Given the description of an element on the screen output the (x, y) to click on. 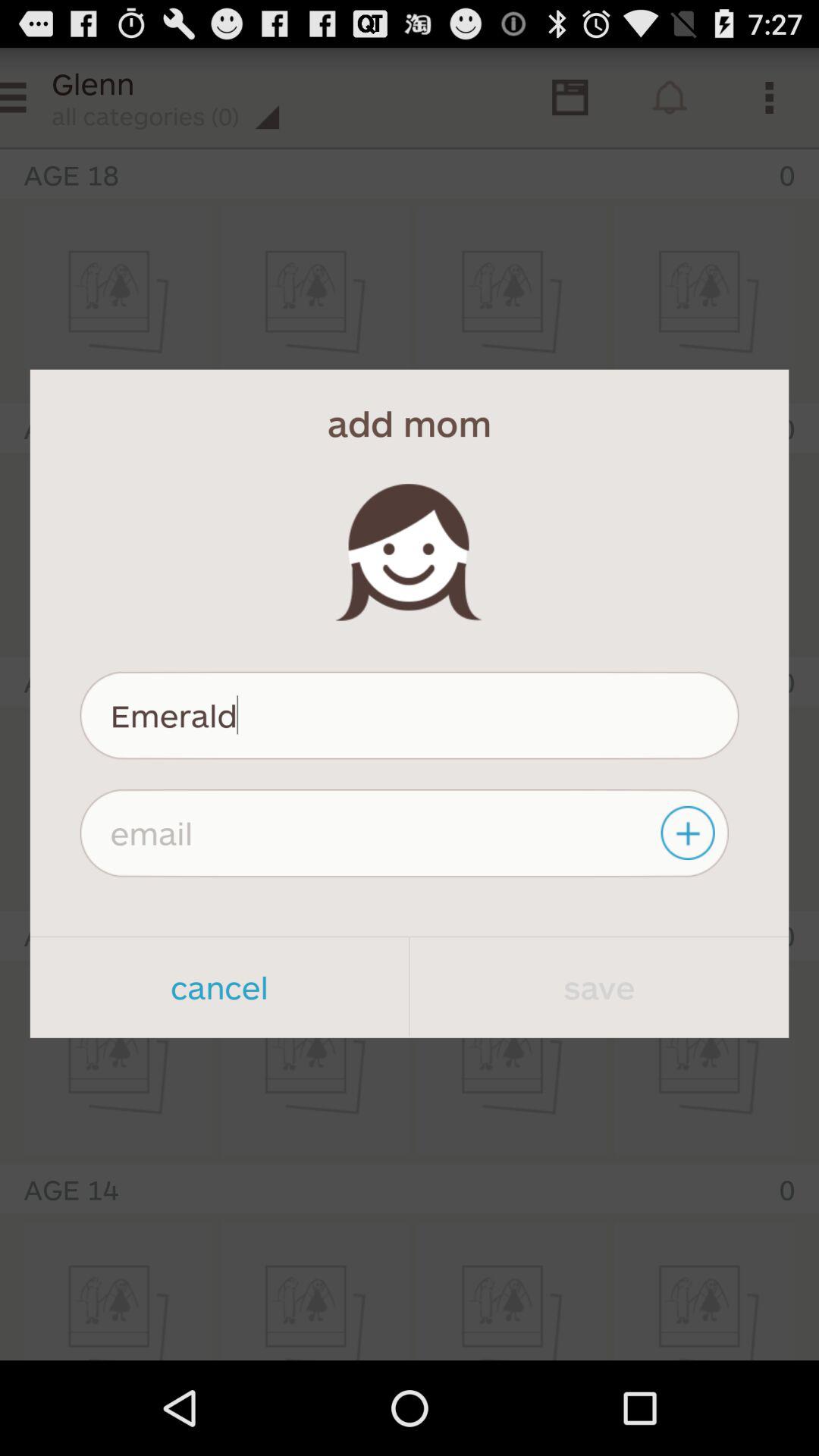
add email address (689, 832)
